Given the description of an element on the screen output the (x, y) to click on. 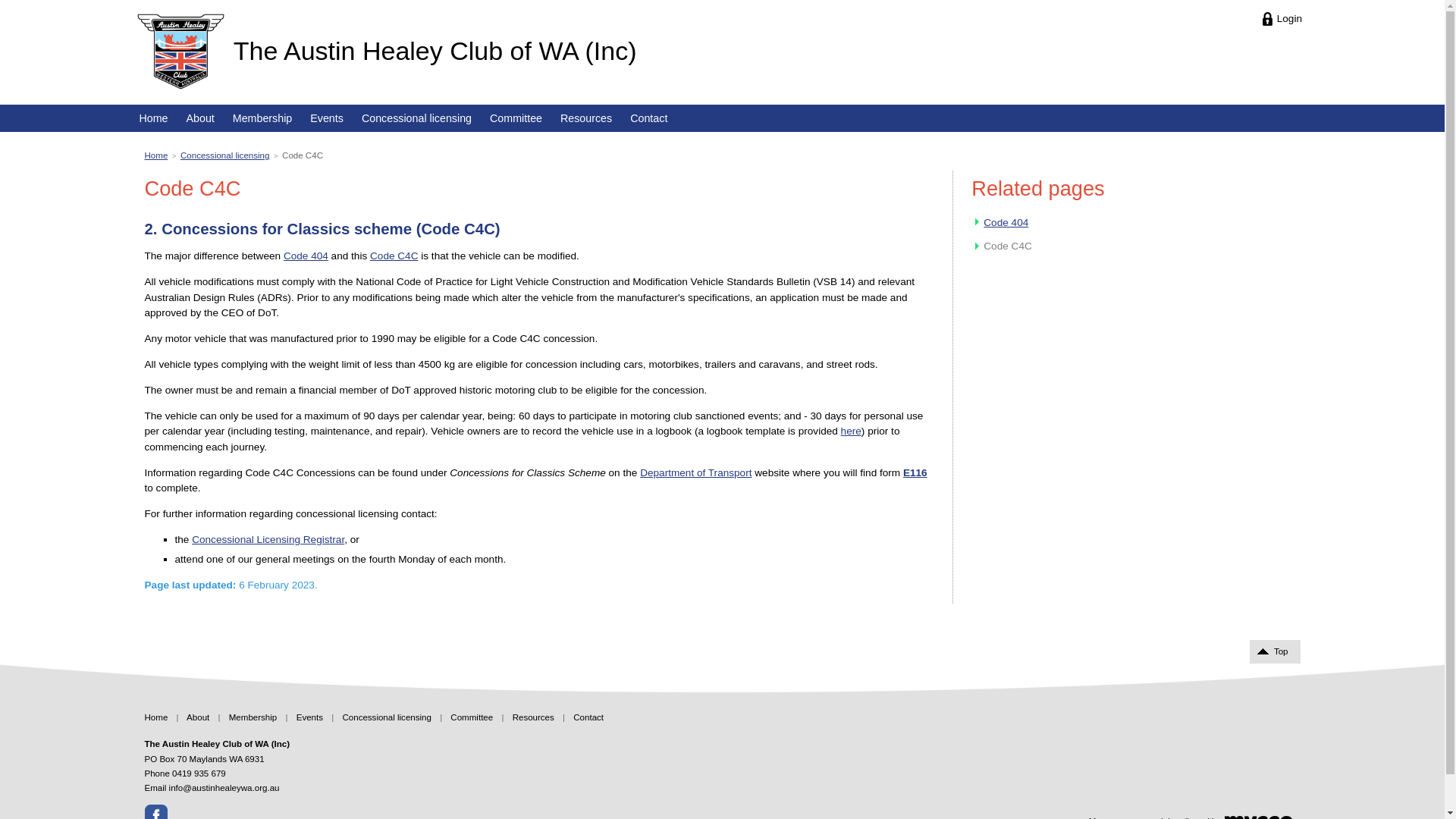
Concessional licensing Element type: text (416, 117)
Code C4C Element type: text (393, 255)
here Element type: text (850, 430)
Home Element type: text (152, 117)
Top Element type: text (1274, 651)
Concessional Licensing Registrar Element type: text (267, 539)
Concessional licensing Element type: text (386, 716)
Events Element type: text (326, 117)
Resources Element type: text (533, 716)
About Element type: text (197, 716)
Committee Element type: text (515, 117)
info@austinhealeywa.org.au Element type: text (224, 787)
Events Element type: text (309, 716)
Membership Element type: text (262, 117)
Code 404 Element type: text (1005, 222)
Membership Element type: text (253, 716)
Home Element type: text (155, 155)
Resources Element type: text (586, 117)
Contact Element type: text (588, 716)
Arrow head Element type: hover (978, 222)
Login Element type: text (1282, 18)
Arrow head Element type: hover (978, 247)
Home Element type: text (155, 716)
The Austin Healey Club of WA (Inc) logo Element type: hover (180, 51)
Code 404 Element type: text (305, 255)
Committee Element type: text (471, 716)
Department of Transport Element type: text (695, 472)
About Element type: text (200, 117)
E116 Element type: text (915, 472)
Concessional licensing Element type: text (224, 155)
Contact Element type: text (648, 117)
Home page Element type: hover (180, 50)
